Given the description of an element on the screen output the (x, y) to click on. 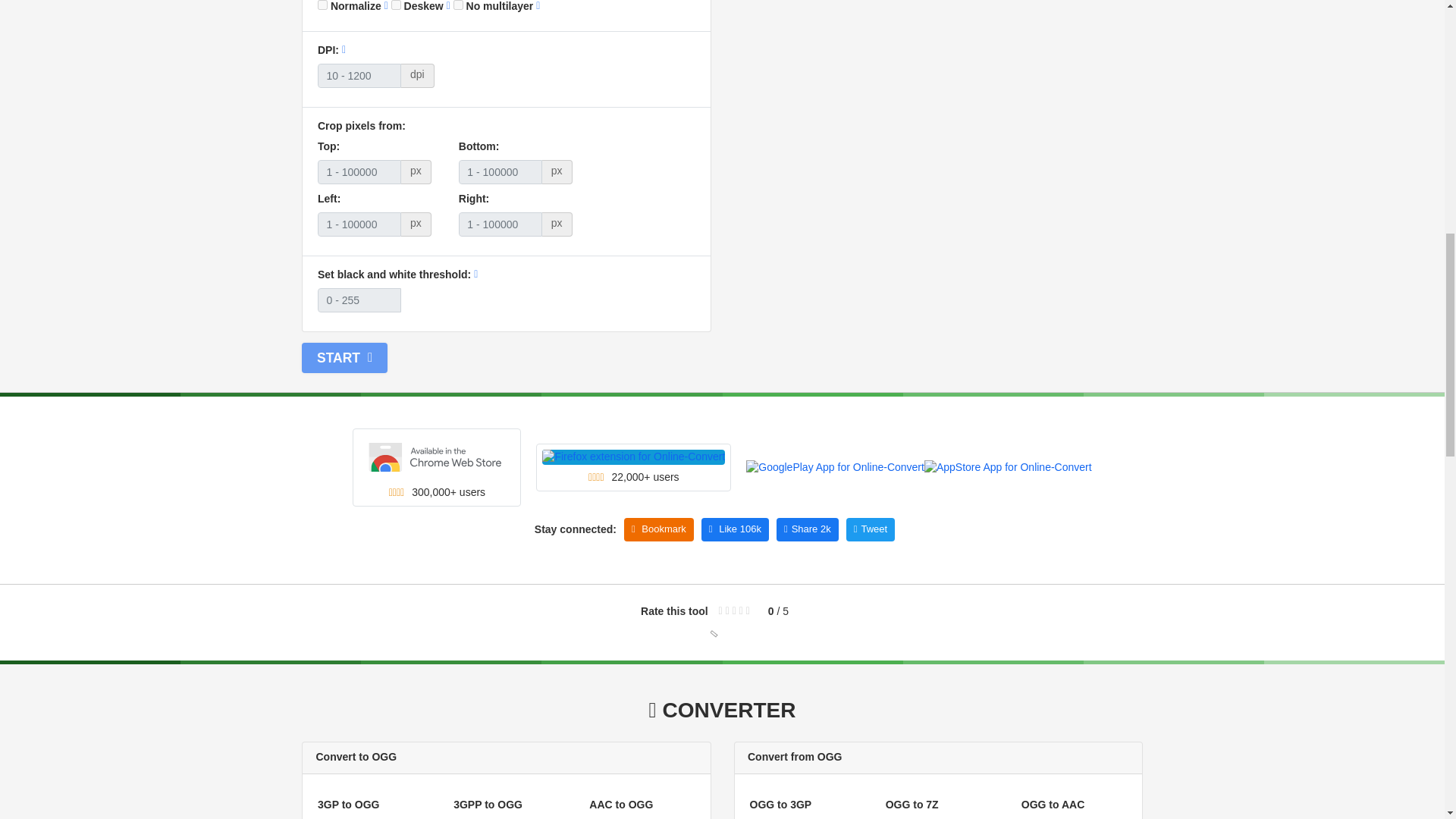
on (396, 4)
on (322, 4)
on (457, 4)
